Given the description of an element on the screen output the (x, y) to click on. 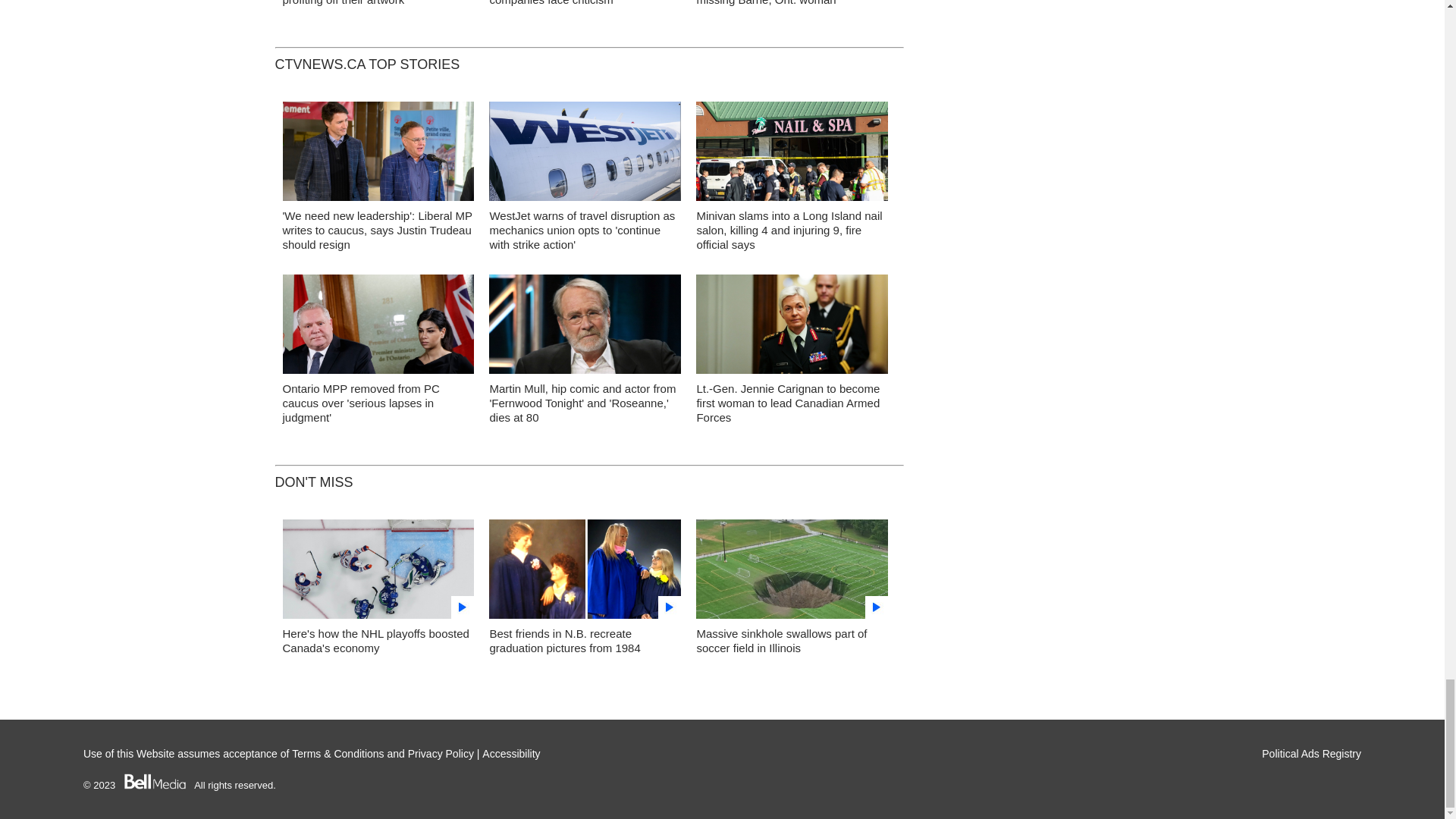
SINKHOLE (791, 573)
Wayne Long (378, 155)
Martin Mull (585, 328)
Goldie Ghamari (378, 328)
N.B. besties re-create grad pics (585, 573)
WestJet (585, 155)
CTV National News: Canada's playoff boost (378, 573)
Lt.-Gen. Jennie Carignan (791, 328)
